Given the description of an element on the screen output the (x, y) to click on. 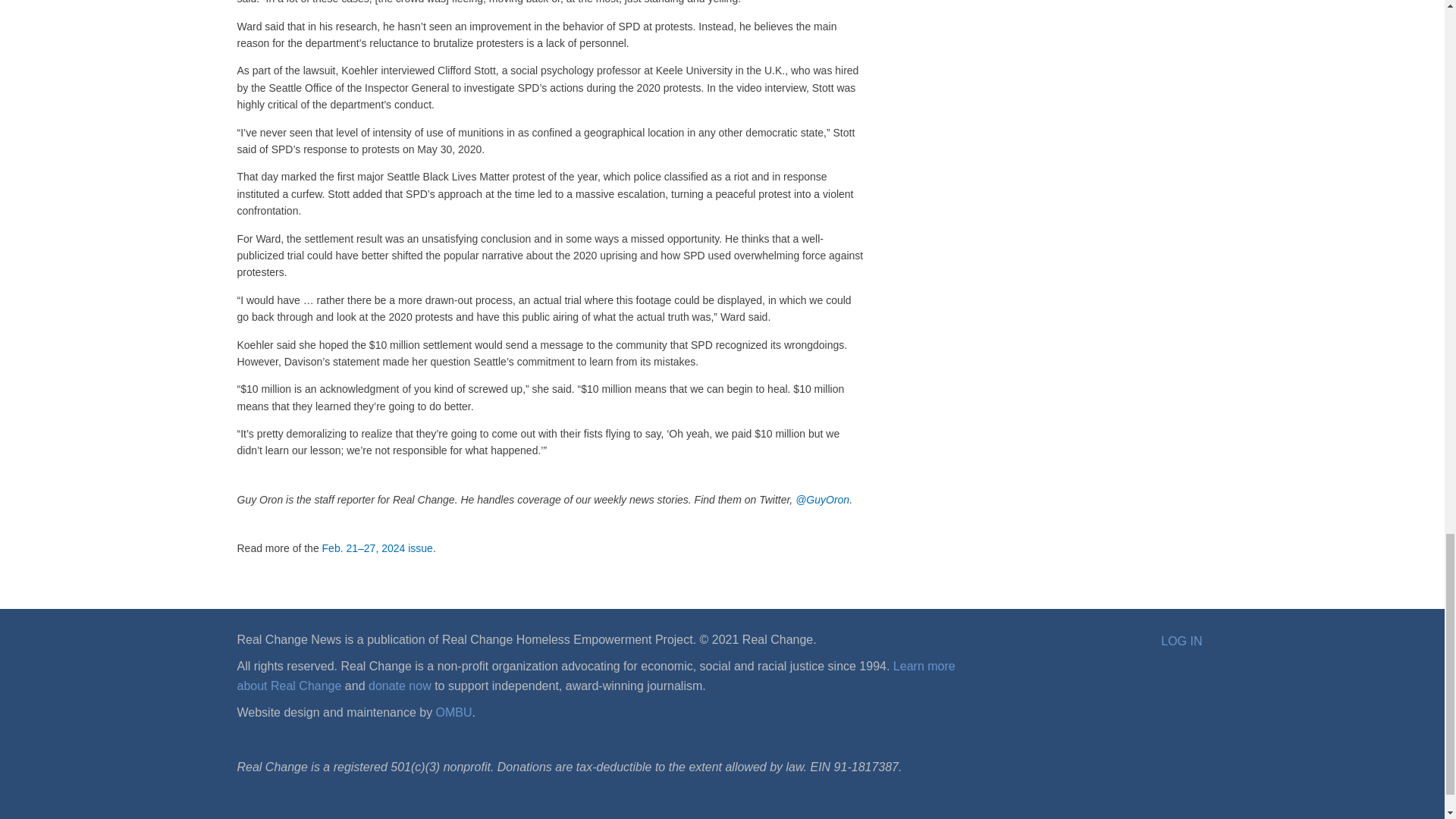
donate now (399, 685)
Learn more about Real Change (595, 676)
LOG IN (1181, 640)
OMBU (453, 712)
